Given the description of an element on the screen output the (x, y) to click on. 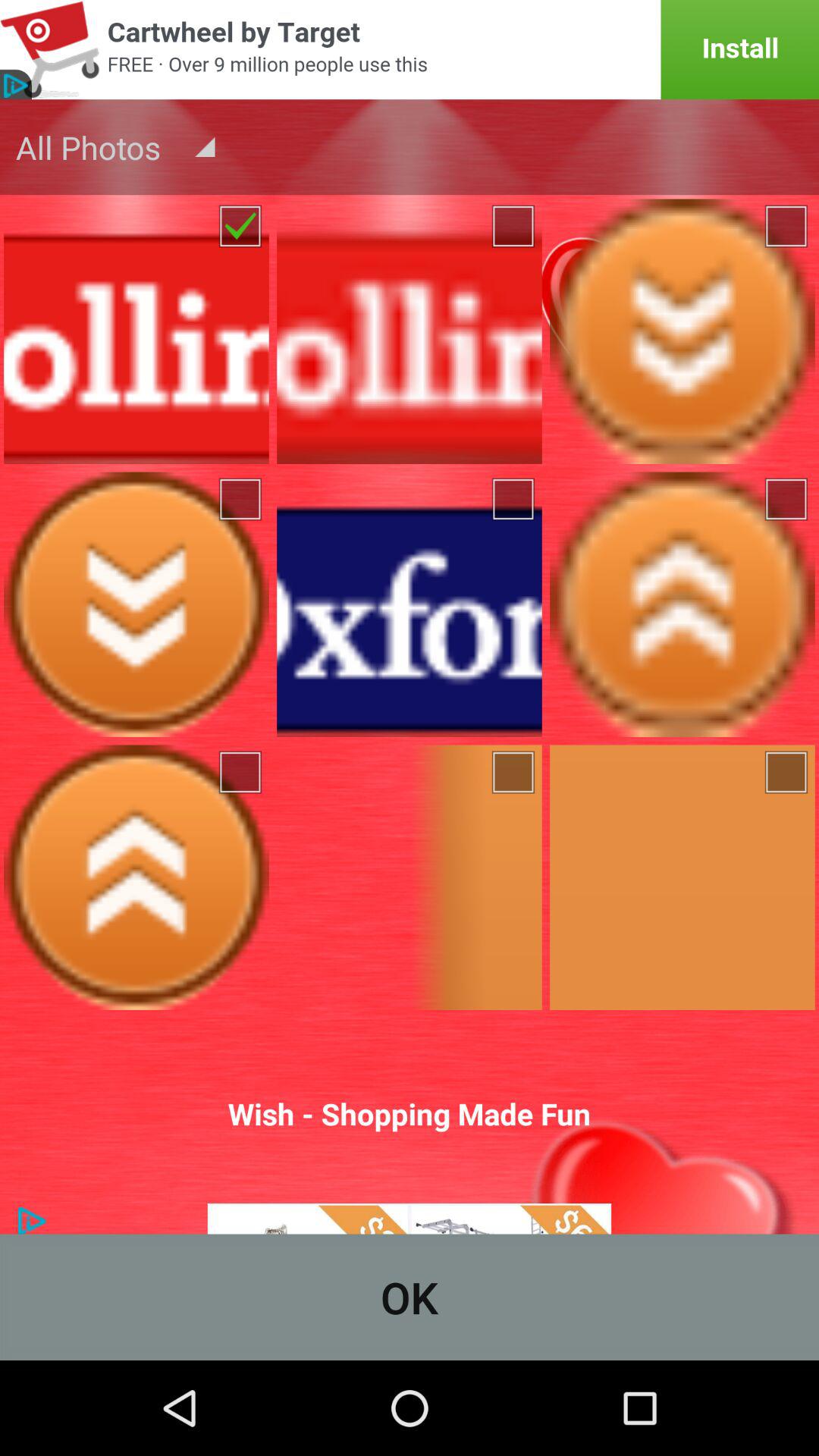
advertisement (409, 49)
